Given the description of an element on the screen output the (x, y) to click on. 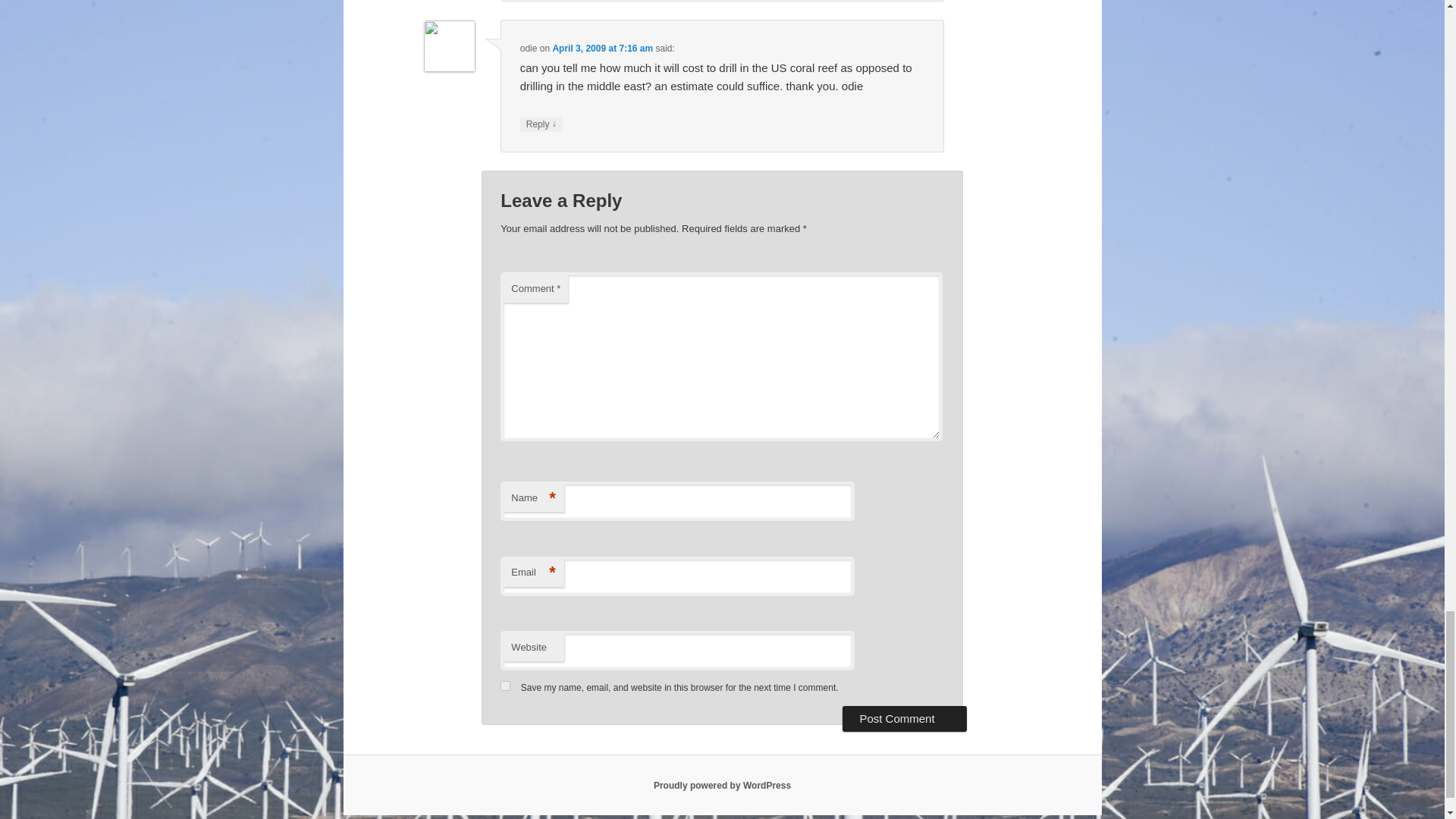
Post Comment (904, 718)
April 3, 2009 at 7:16 am (601, 48)
Post Comment (904, 718)
yes (505, 685)
Semantic Personal Publishing Platform (721, 785)
Proudly powered by WordPress (721, 785)
